Given the description of an element on the screen output the (x, y) to click on. 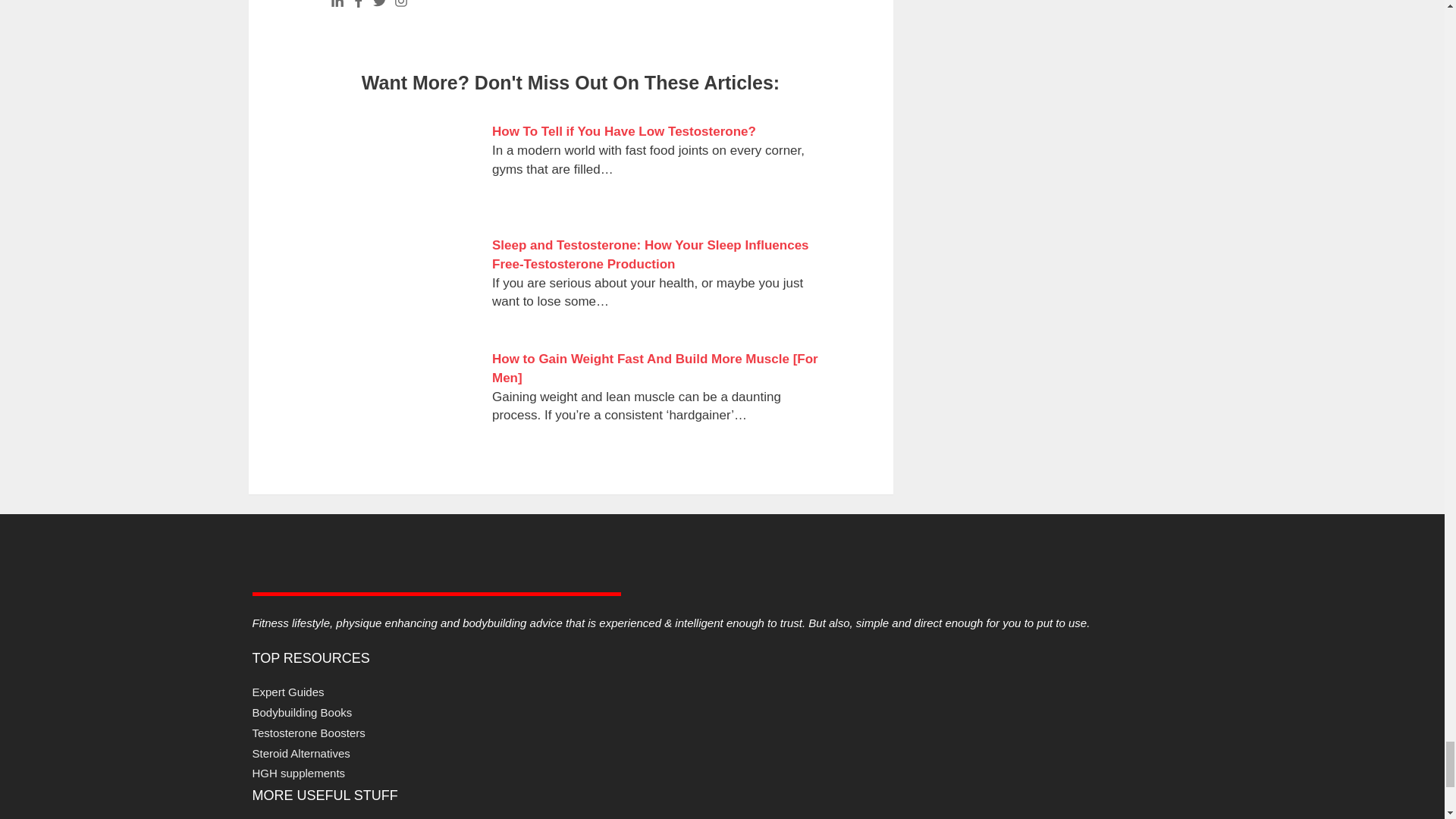
Twitter (379, 4)
Facebook (358, 4)
Linkedin (336, 4)
Instagram (400, 4)
